Given the description of an element on the screen output the (x, y) to click on. 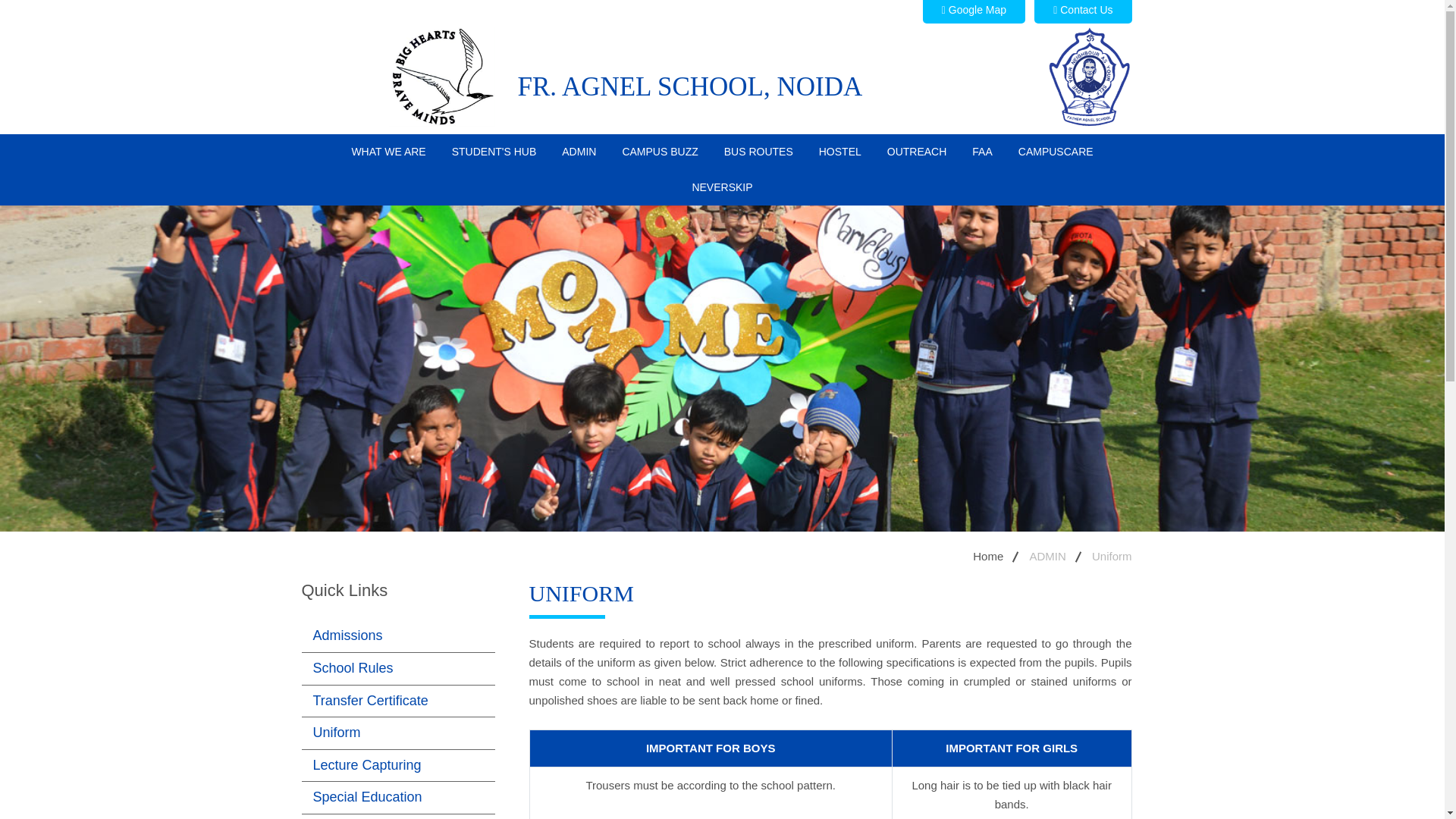
WHAT WE ARE (387, 151)
STUDENT'S HUB (494, 151)
Google Map (974, 11)
Contact Us (1082, 11)
